Given the description of an element on the screen output the (x, y) to click on. 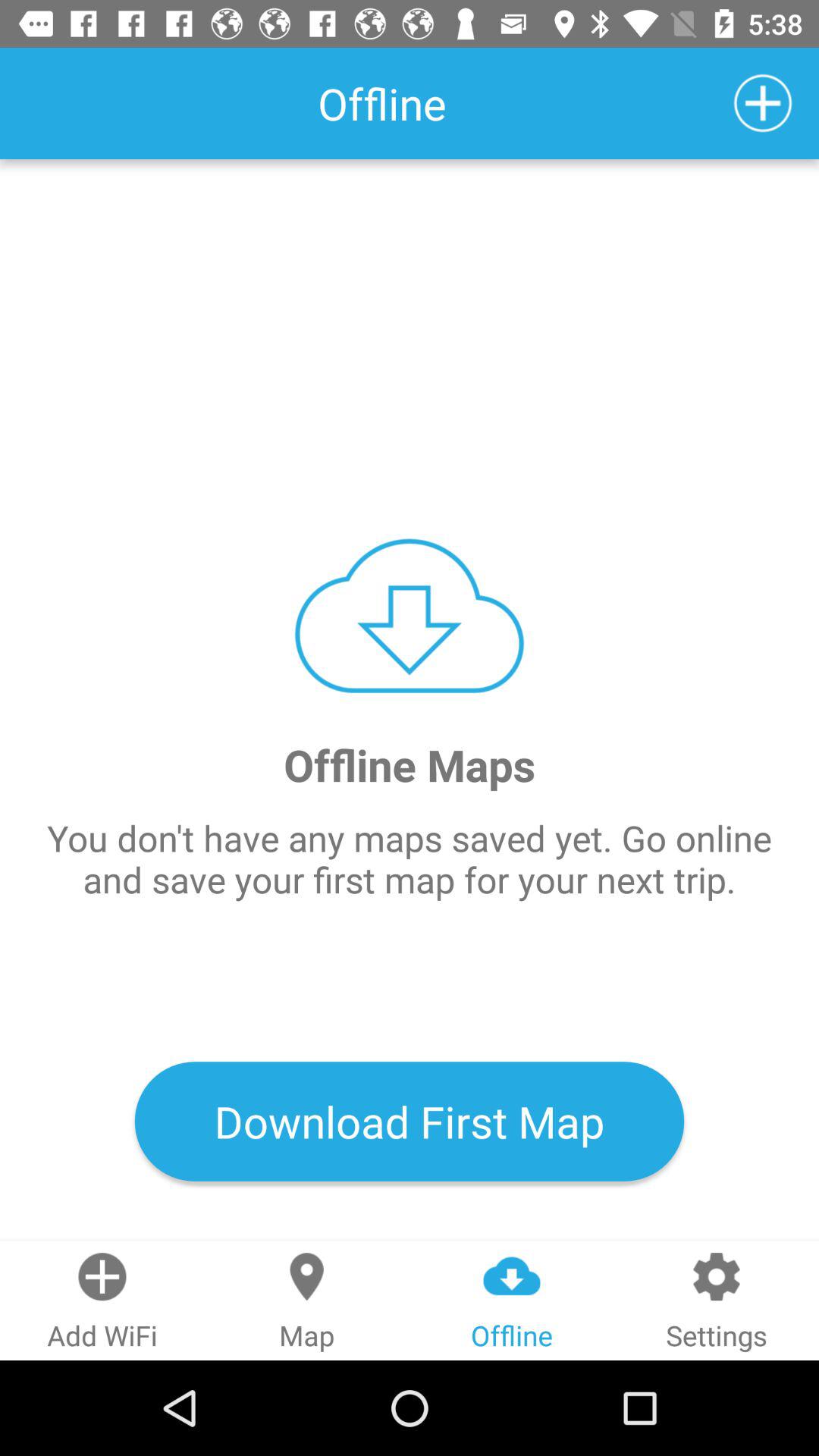
open the icon at the top right corner (762, 103)
